Given the description of an element on the screen output the (x, y) to click on. 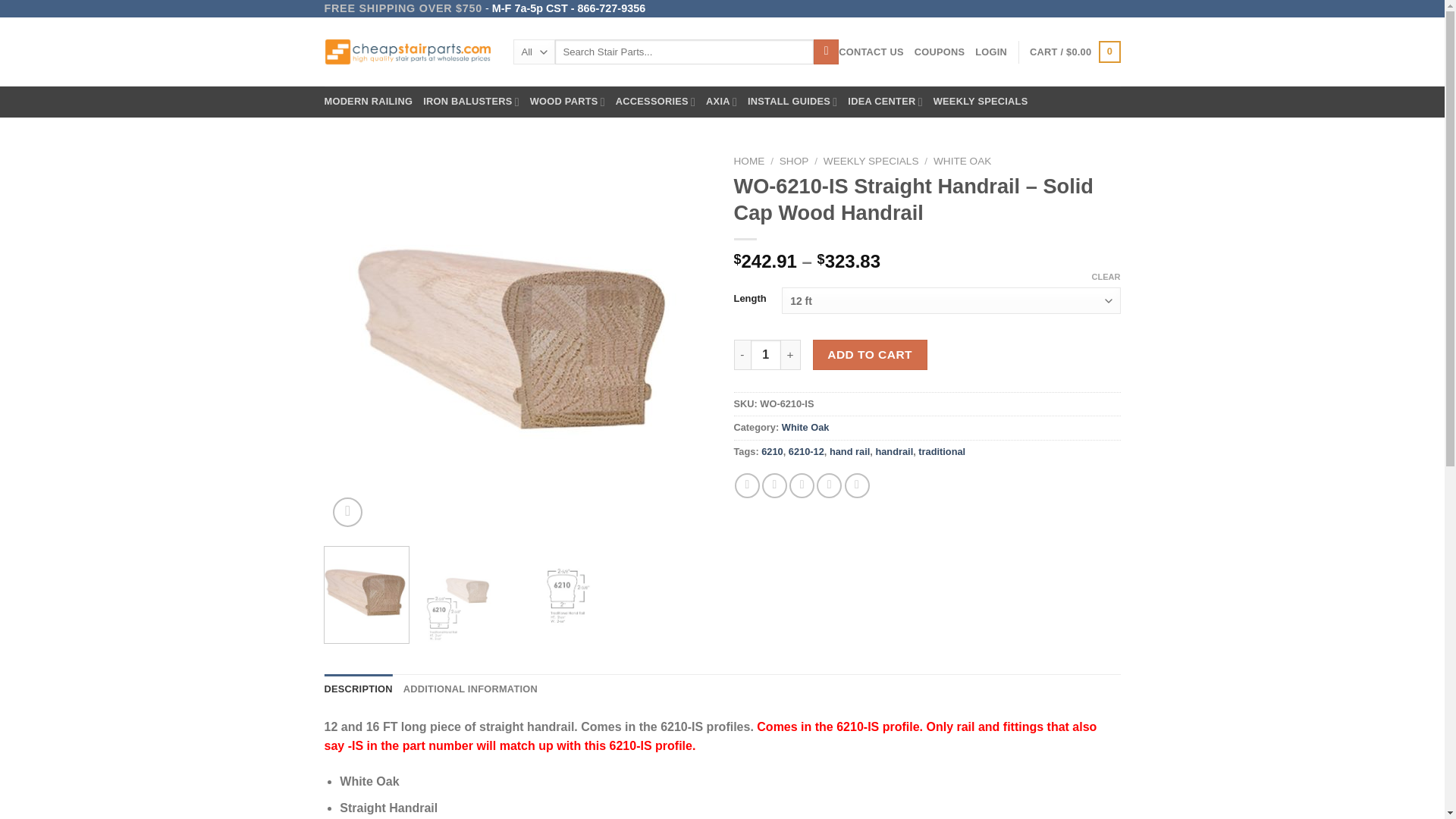
Cart (1074, 52)
CONTACT US (871, 51)
Share on Twitter (774, 485)
LOGIN (991, 51)
1 (765, 354)
MODERN RAILING (368, 101)
Search (825, 52)
Login (991, 51)
Email to a Friend (801, 485)
Share on Facebook (747, 485)
